Given the description of an element on the screen output the (x, y) to click on. 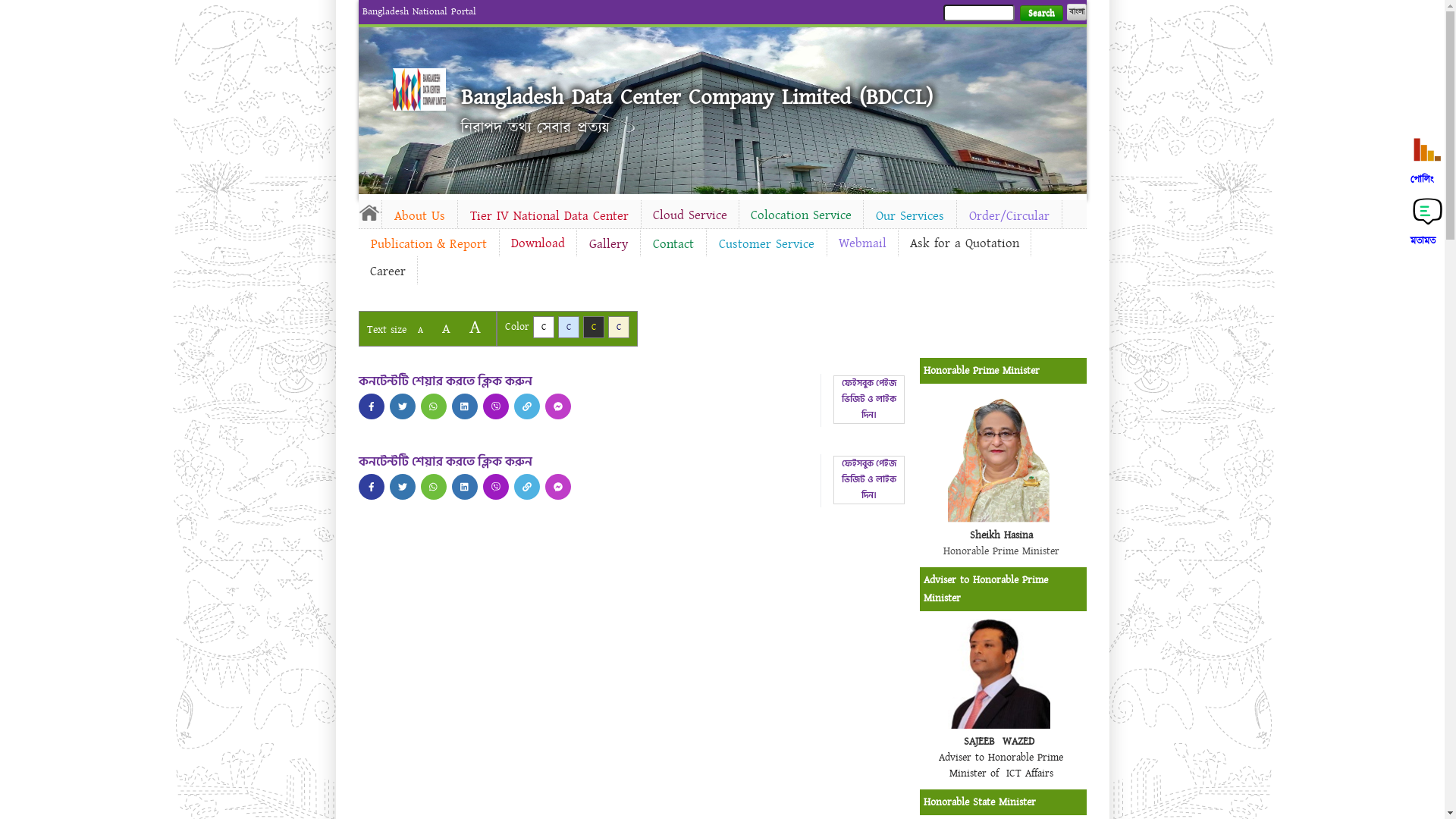
Search Element type: text (1040, 13)
Career Element type: text (386, 271)
Order/Circular Element type: text (1009, 216)
A Element type: text (419, 330)
Bangladesh Data Center Company Limited (BDCCL) Element type: text (696, 96)
Ask for a Quotation Element type: text (963, 243)
Tier IV National Data Center Element type: text (549, 216)
Our Services Element type: text (908, 216)
Gallery Element type: text (607, 244)
Colocation Service Element type: text (800, 215)
A Element type: text (445, 328)
Contact Element type: text (672, 244)
Cloud Service Element type: text (689, 215)
Bangladesh National Portal Element type: text (419, 11)
A Element type: text (474, 327)
About Us Element type: text (419, 216)
C Element type: text (618, 327)
C Element type: text (542, 327)
Download Element type: text (536, 243)
Customer Service Element type: text (766, 244)
Home Element type: hover (418, 89)
Home Element type: hover (368, 211)
Webmail Element type: text (861, 243)
Publication & Report Element type: text (427, 244)
C Element type: text (592, 327)
C Element type: text (568, 327)
